Given the description of an element on the screen output the (x, y) to click on. 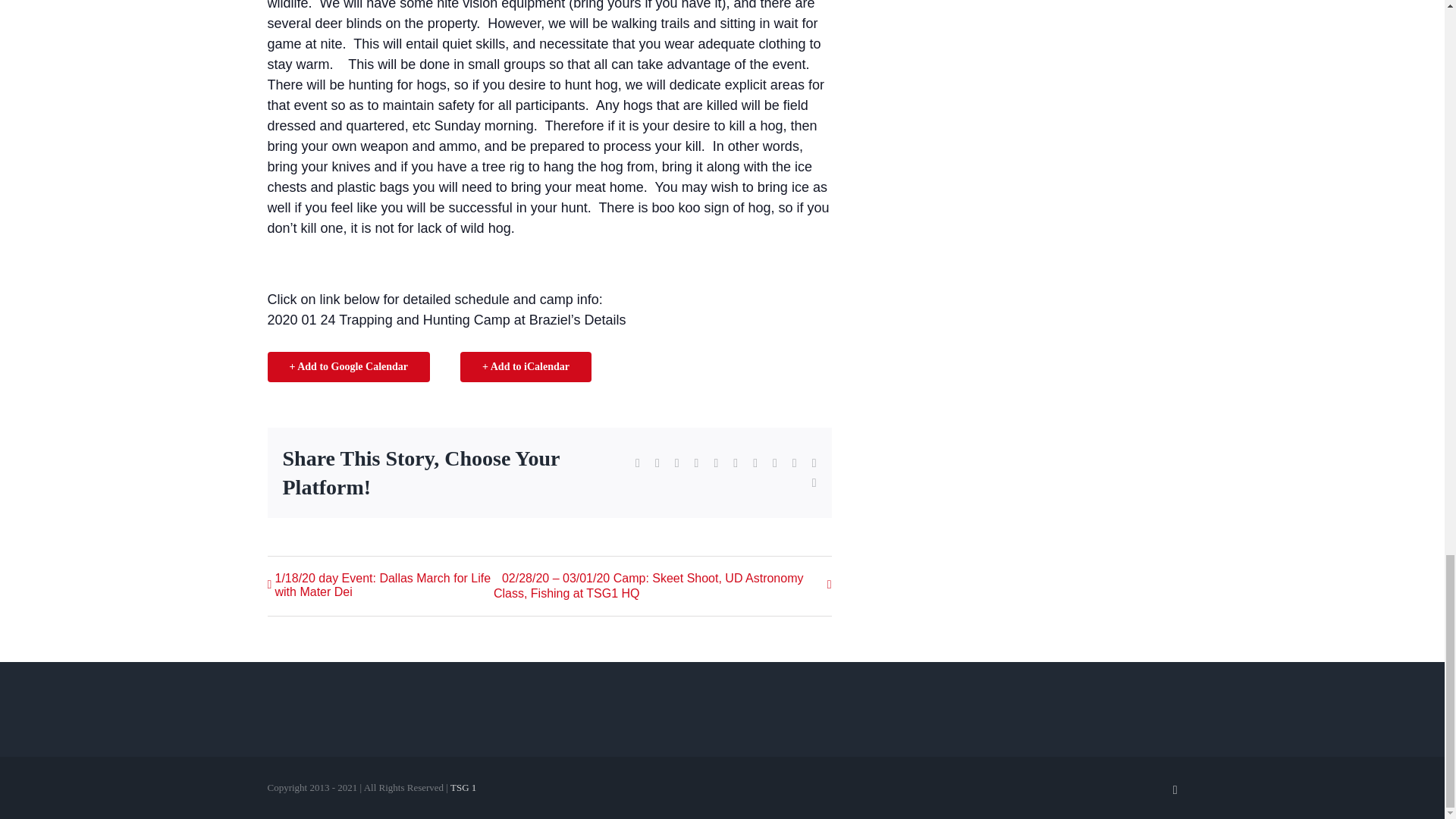
Add to iCalendar (525, 367)
Add to Google Calendar (347, 367)
